Given the description of an element on the screen output the (x, y) to click on. 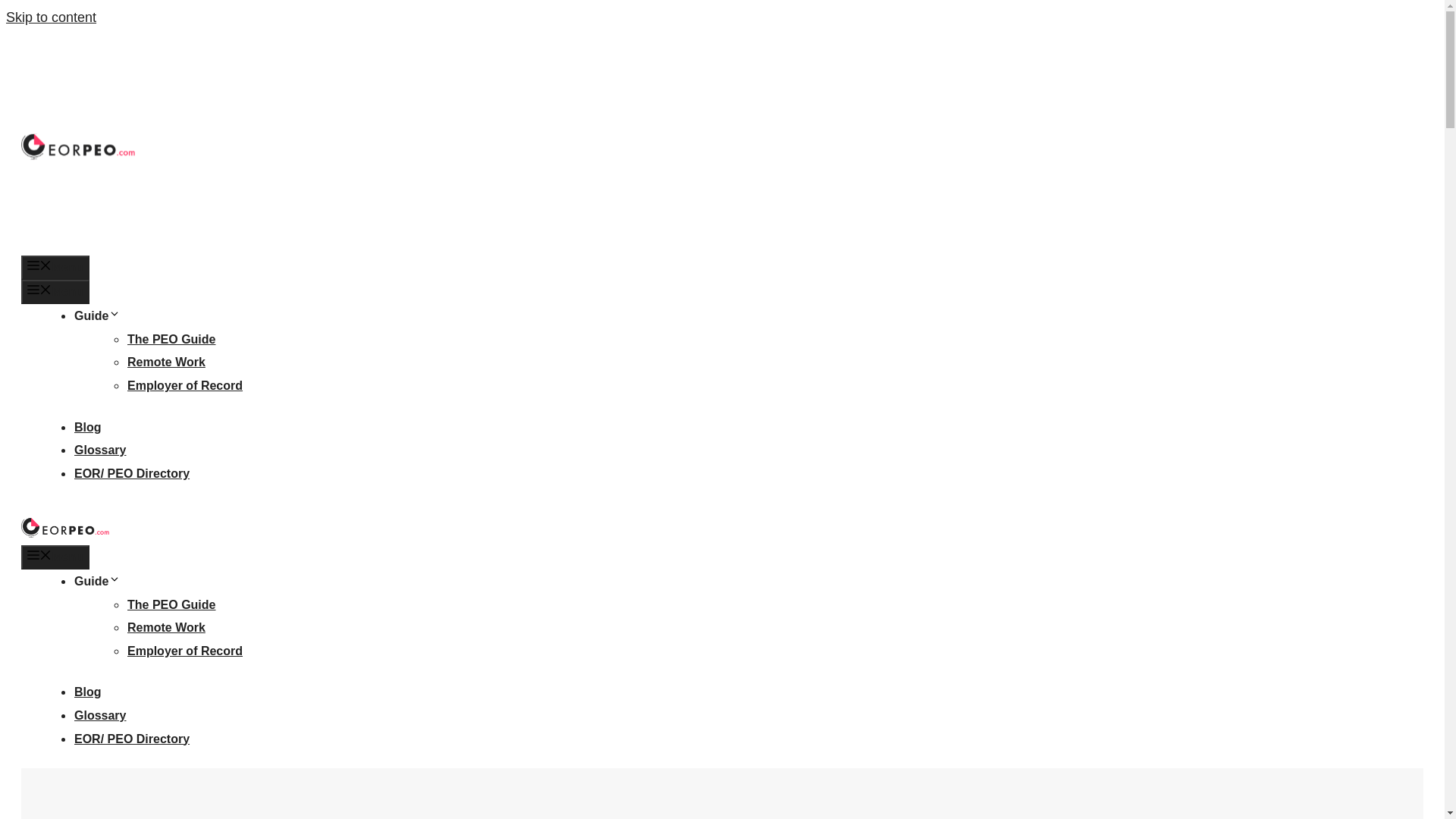
Menu (54, 557)
Glossary (99, 449)
Guide (97, 315)
Menu (54, 267)
Guide (97, 581)
The PEO Guide (171, 338)
The PEO Guide (171, 604)
Glossary (99, 715)
Blog (87, 427)
Skip to content (50, 17)
